Given the description of an element on the screen output the (x, y) to click on. 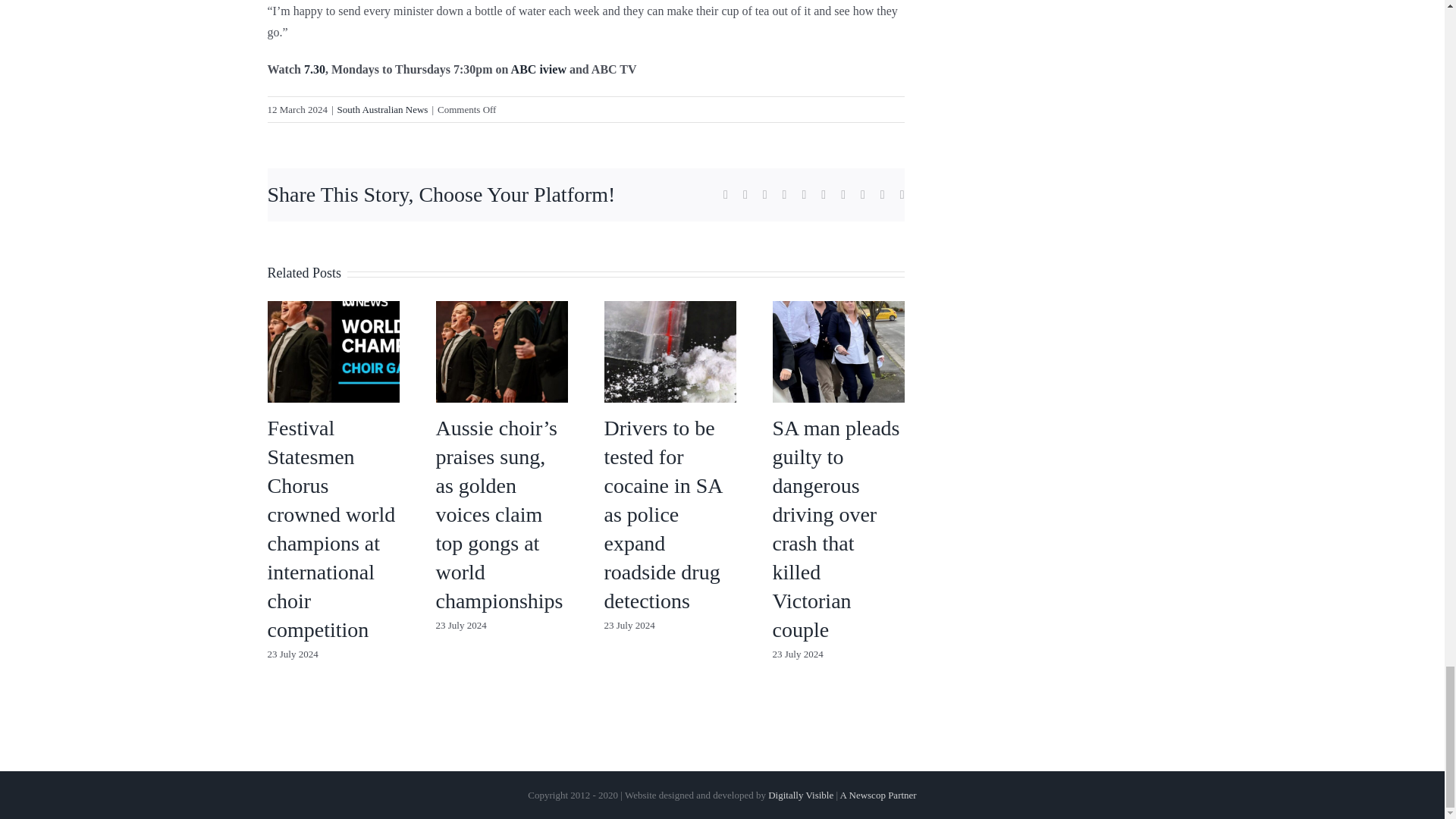
South Australian News (382, 109)
ABC iview (538, 69)
7.30 (314, 69)
